Given the description of an element on the screen output the (x, y) to click on. 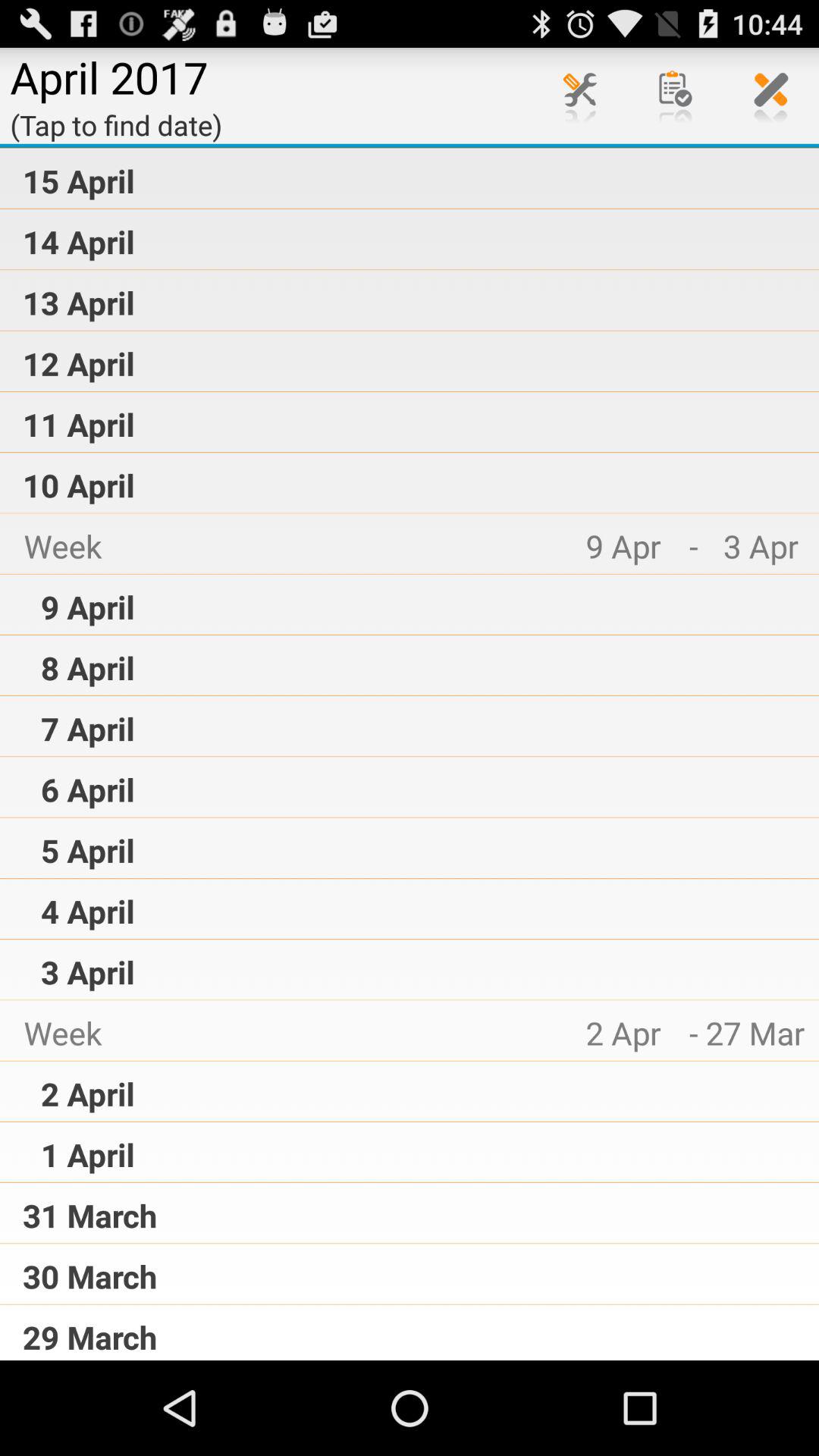
getting started (675, 95)
